Given the description of an element on the screen output the (x, y) to click on. 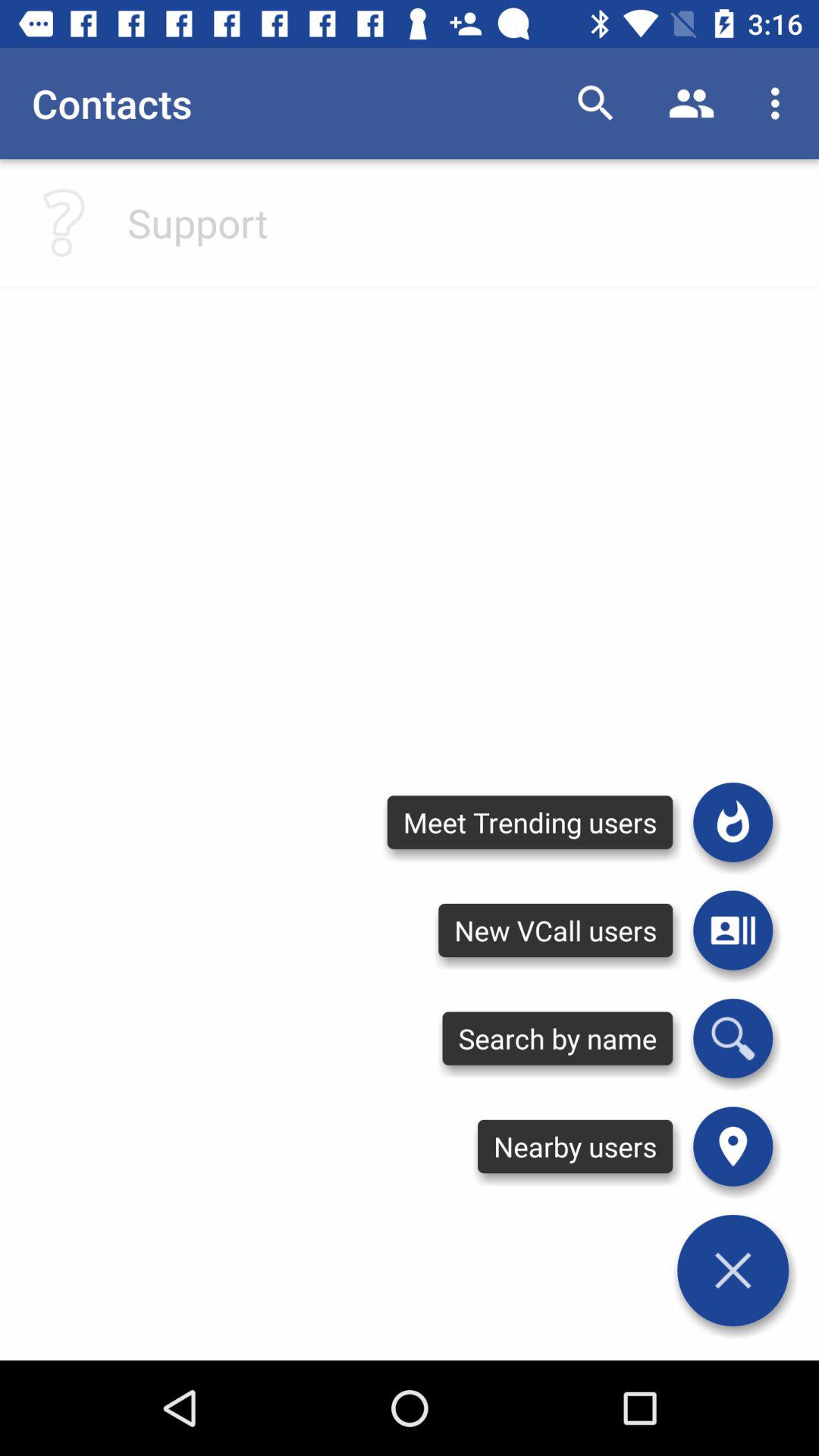
flip to the meet trending users icon (530, 822)
